Given the description of an element on the screen output the (x, y) to click on. 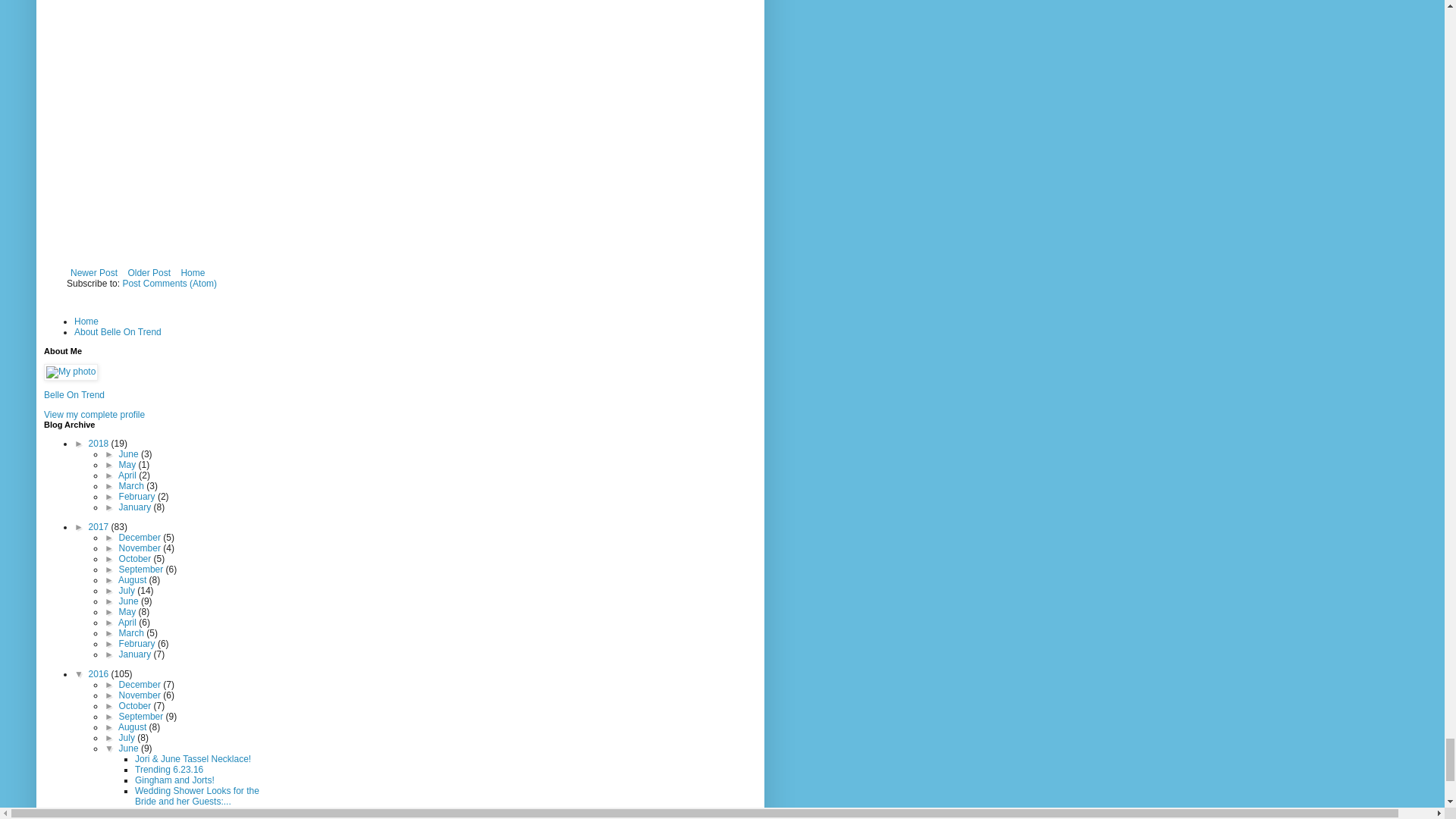
Older Post (148, 272)
Newer Post (93, 272)
